Given the description of an element on the screen output the (x, y) to click on. 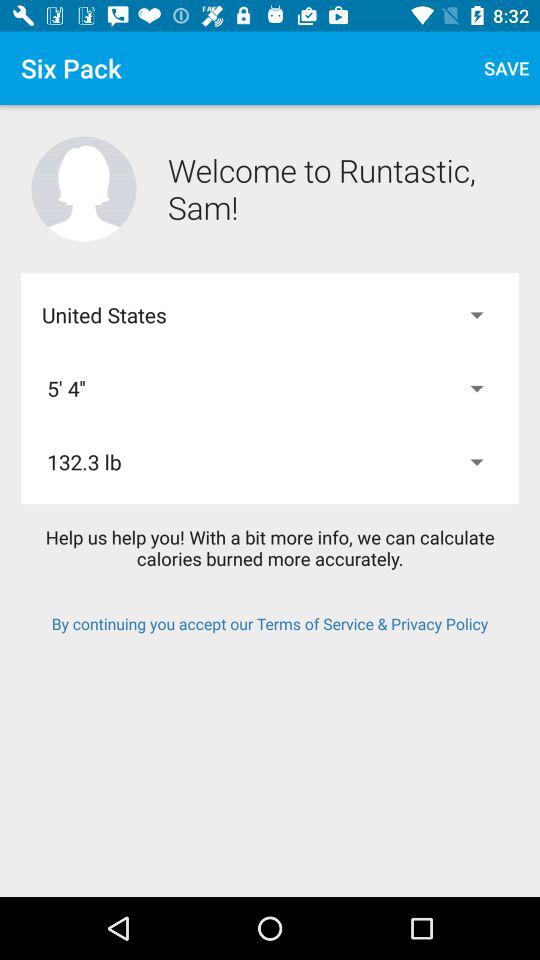
tap item above the welcome to runtastic (506, 67)
